Given the description of an element on the screen output the (x, y) to click on. 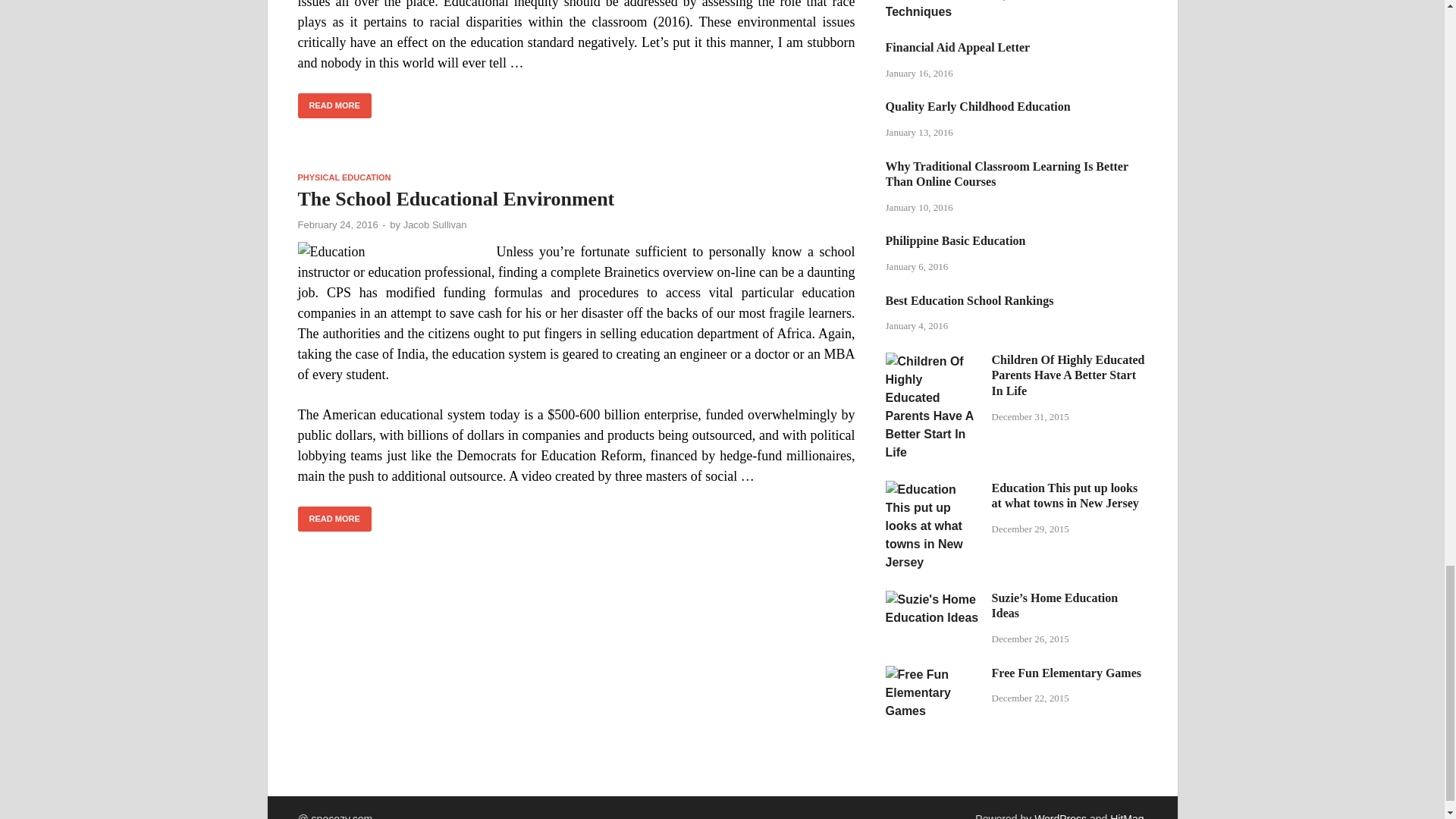
Education This put up looks at what towns in New Jersey (932, 489)
Free Fun Elementary Games (932, 674)
